Given the description of an element on the screen output the (x, y) to click on. 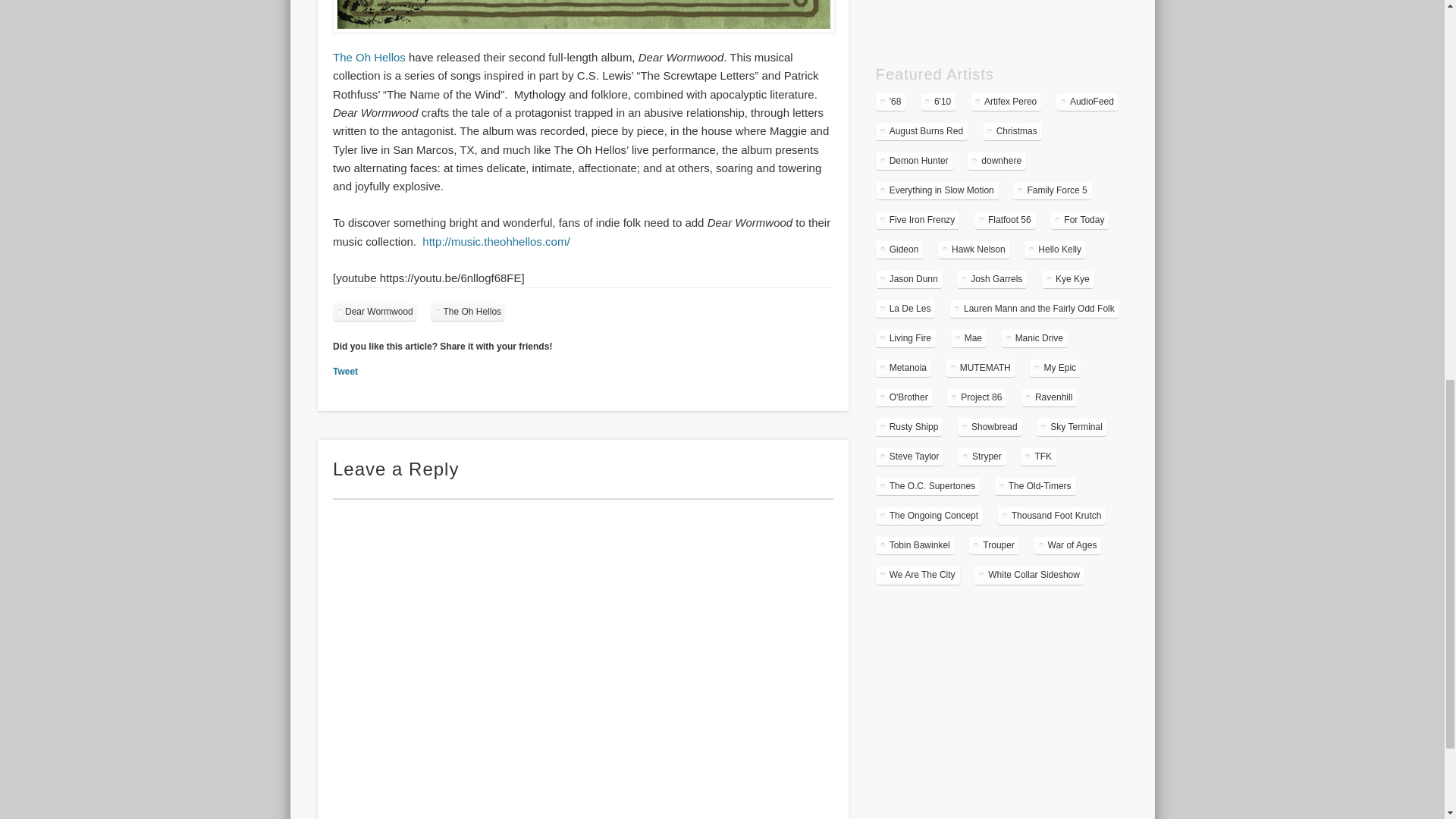
6'10 (937, 101)
AudioFeed (1087, 101)
Dear Wormwood (374, 312)
Artifex Pereo (1006, 101)
Tweet (345, 371)
August Burns Red (922, 131)
The Oh Hellos (466, 312)
Christmas (1012, 131)
Advertisement (1001, 18)
The Oh Hellos (582, 31)
